Given the description of an element on the screen output the (x, y) to click on. 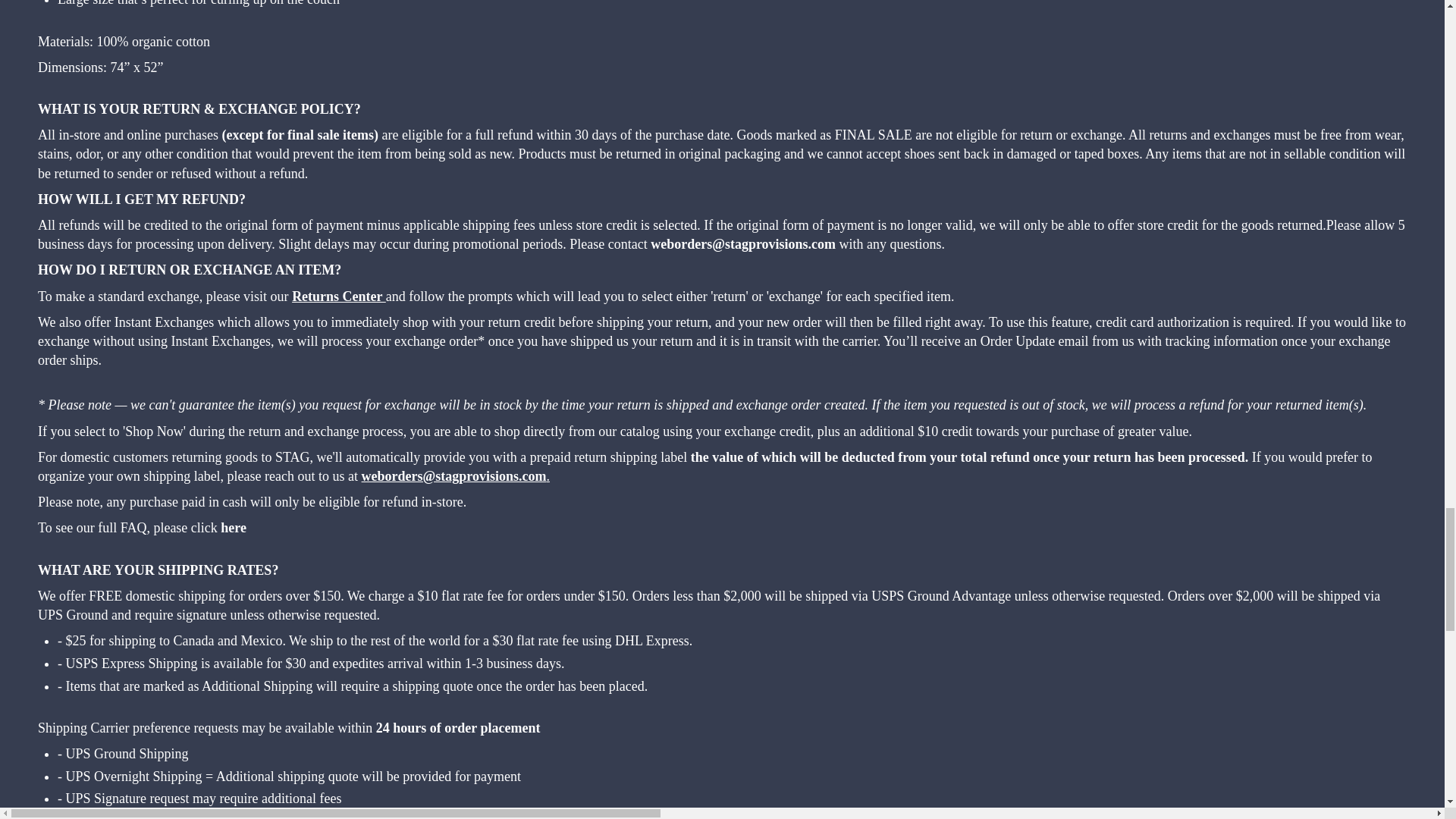
STAG Provisions FAQ page (233, 529)
